Given the description of an element on the screen output the (x, y) to click on. 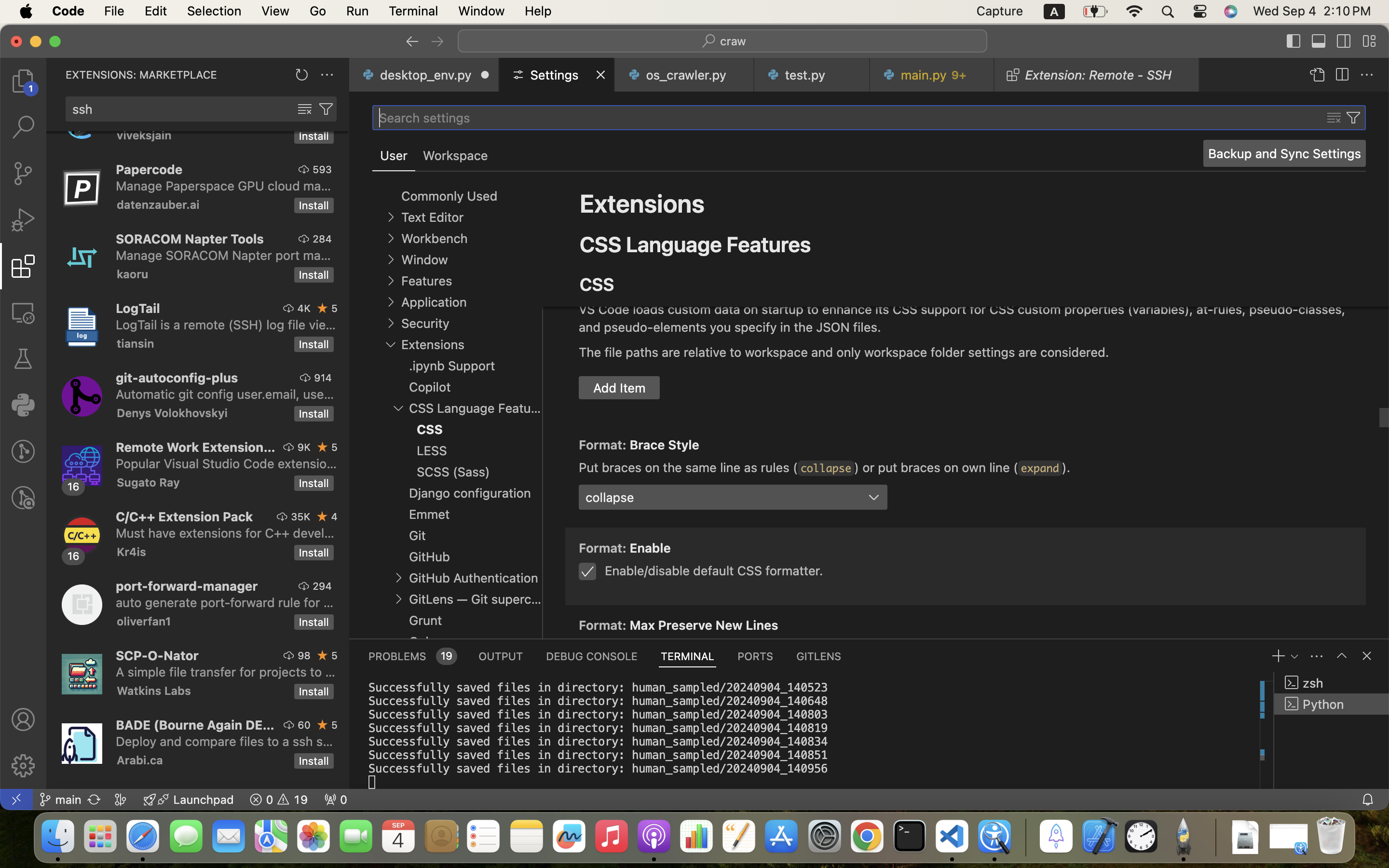
oliverfan1 Element type: AXStaticText (143, 620)
GitHub Authentication Element type: AXStaticText (473, 577)
viveksjain Element type: AXStaticText (143, 136)
0  Element type: AXRadioButton (23, 497)
0  Element type: AXRadioButton (23, 219)
